Given the description of an element on the screen output the (x, y) to click on. 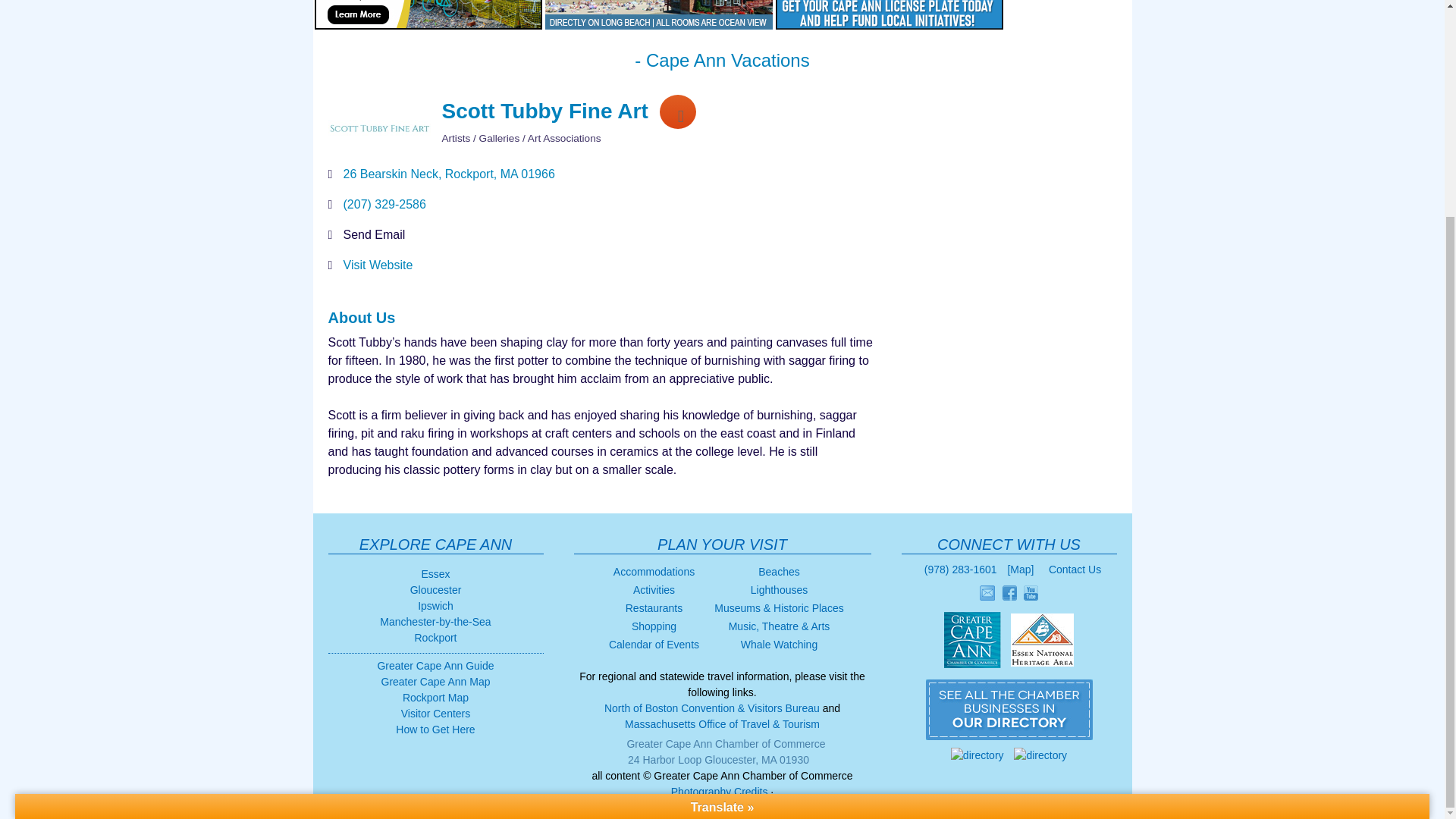
Ipswich (434, 605)
Visit Website (377, 264)
Rockport (435, 637)
Rockport Map (435, 697)
26 Bearskin Neck Rockport MA 01966 (448, 173)
Scott Tubby Fine Art (378, 127)
Greater Cape Ann Map (434, 681)
Manchester-by-the-Sea (435, 621)
Gloucester (435, 589)
Send Email (373, 234)
